Given the description of an element on the screen output the (x, y) to click on. 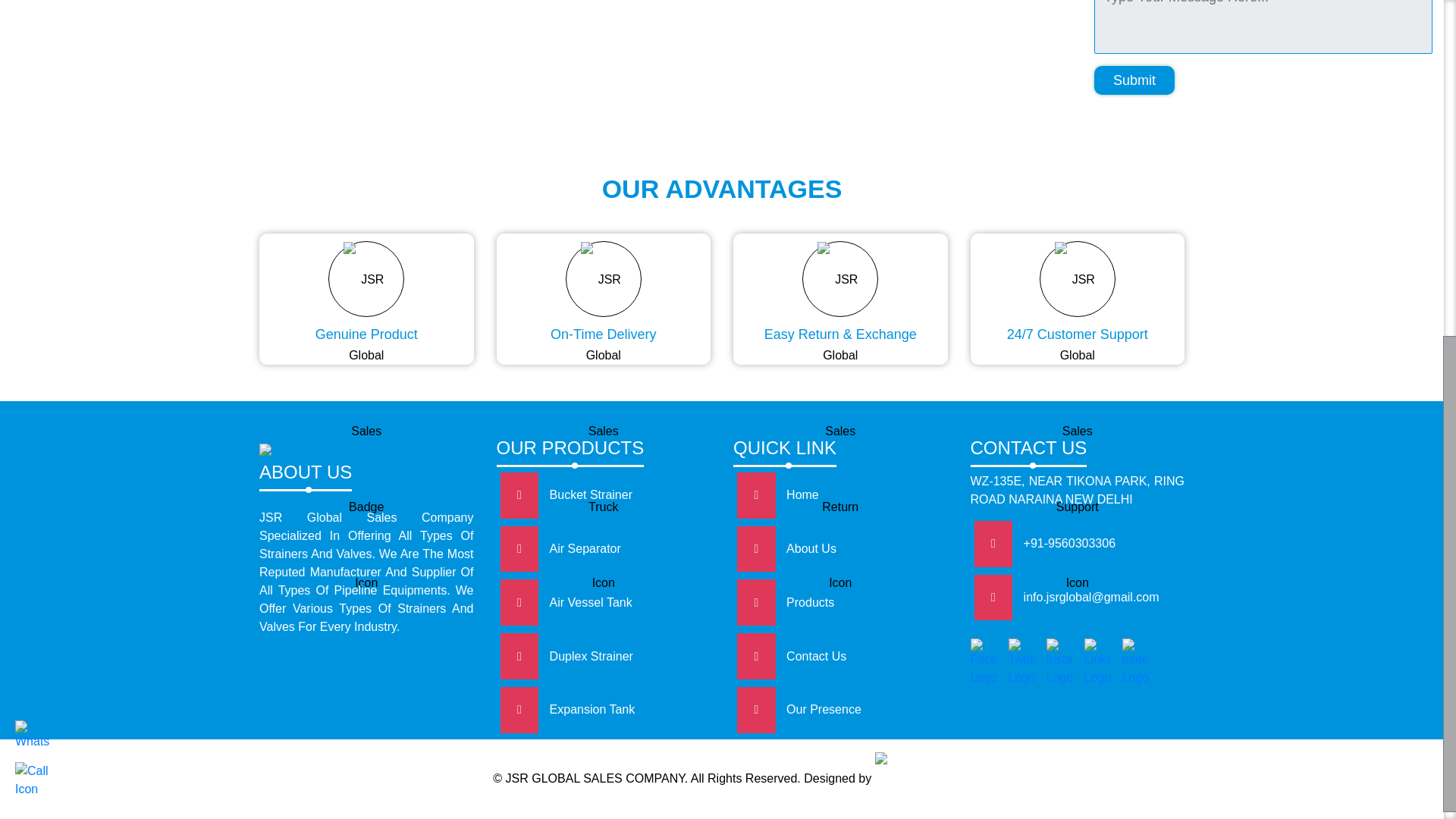
Digital Vayapaar Logo (912, 779)
Submit (1134, 80)
